Given the description of an element on the screen output the (x, y) to click on. 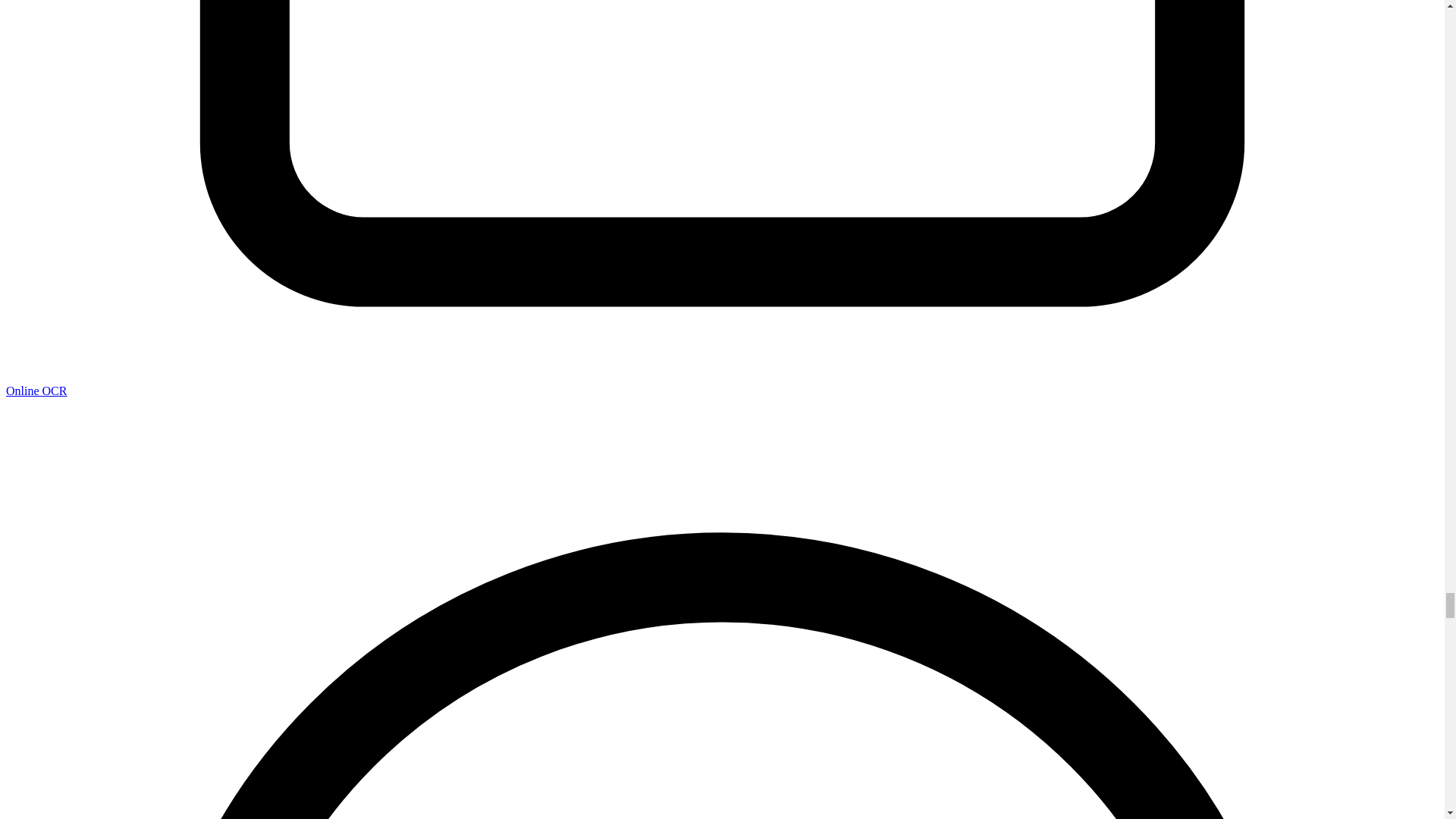
Online OCR (35, 390)
